Given the description of an element on the screen output the (x, y) to click on. 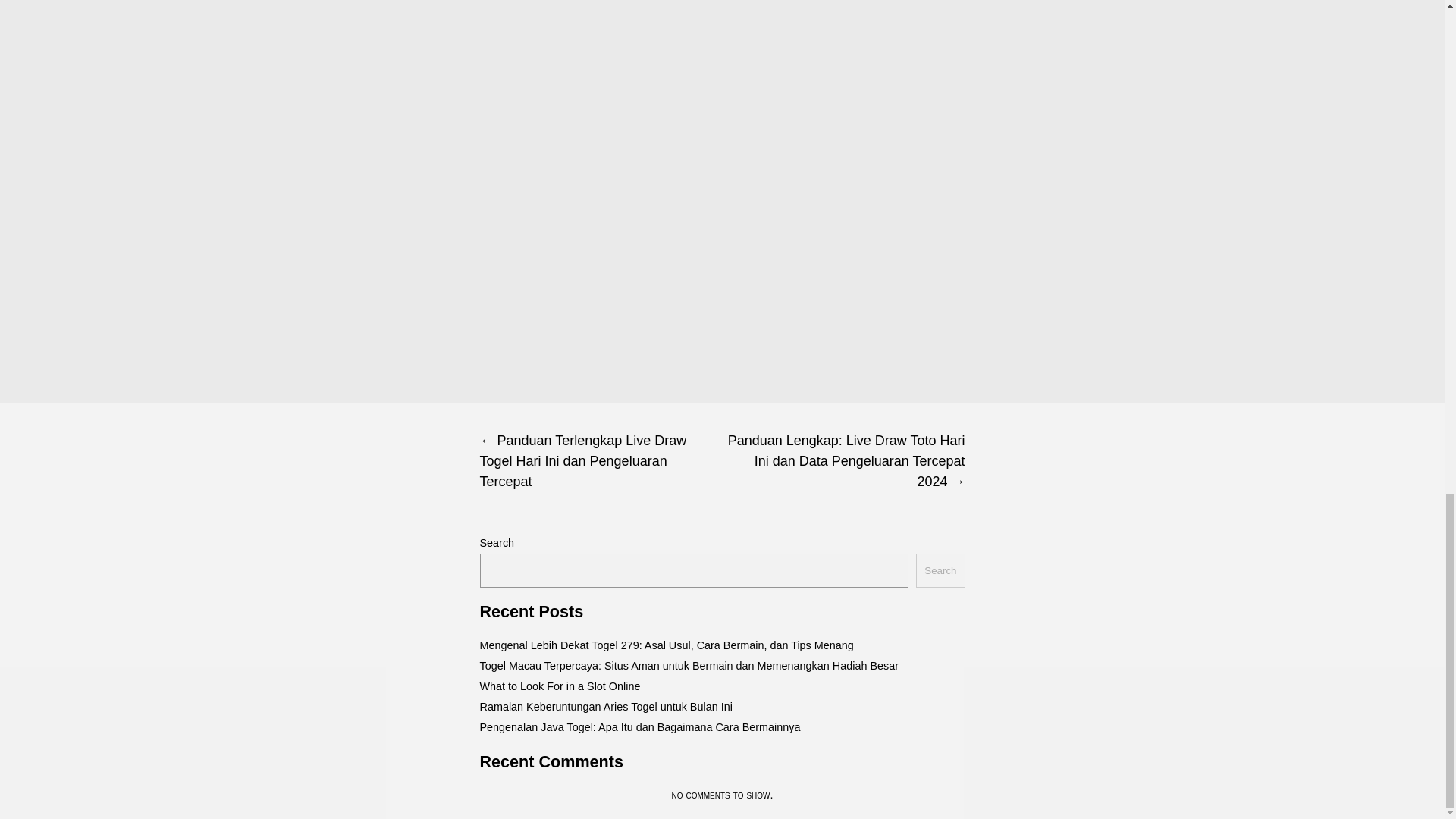
Search (939, 570)
What to Look For in a Slot Online (559, 686)
Ramalan Keberuntungan Aries Togel untuk Bulan Ini (605, 706)
Pengenalan Java Togel: Apa Itu dan Bagaimana Cara Bermainnya (639, 727)
